Given the description of an element on the screen output the (x, y) to click on. 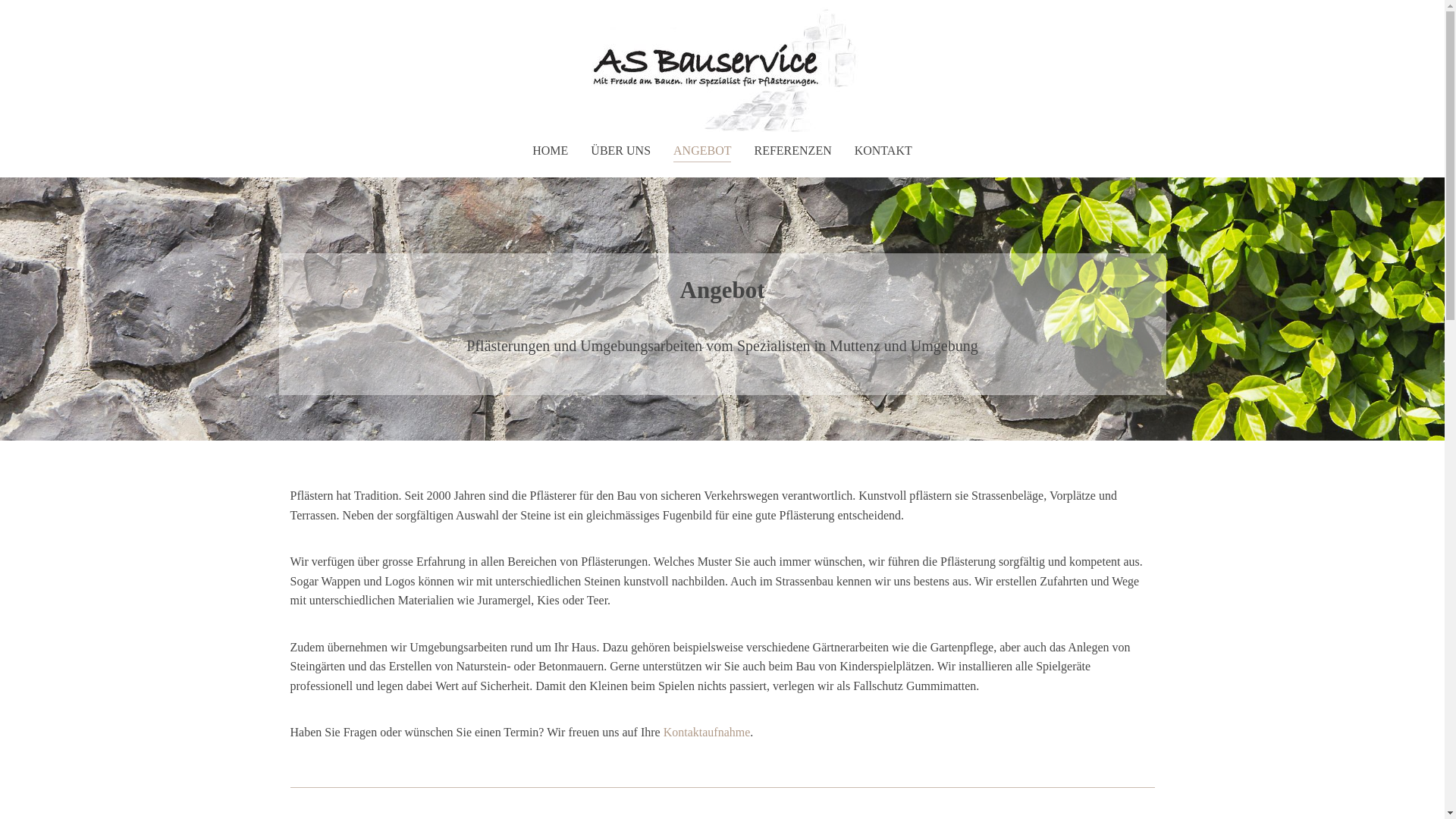
ANGEBOT Element type: text (702, 150)
REFERENZEN Element type: text (792, 150)
HOME Element type: text (549, 150)
Kontaktaufnahme Element type: text (706, 731)
KONTAKT Element type: text (883, 150)
